Given the description of an element on the screen output the (x, y) to click on. 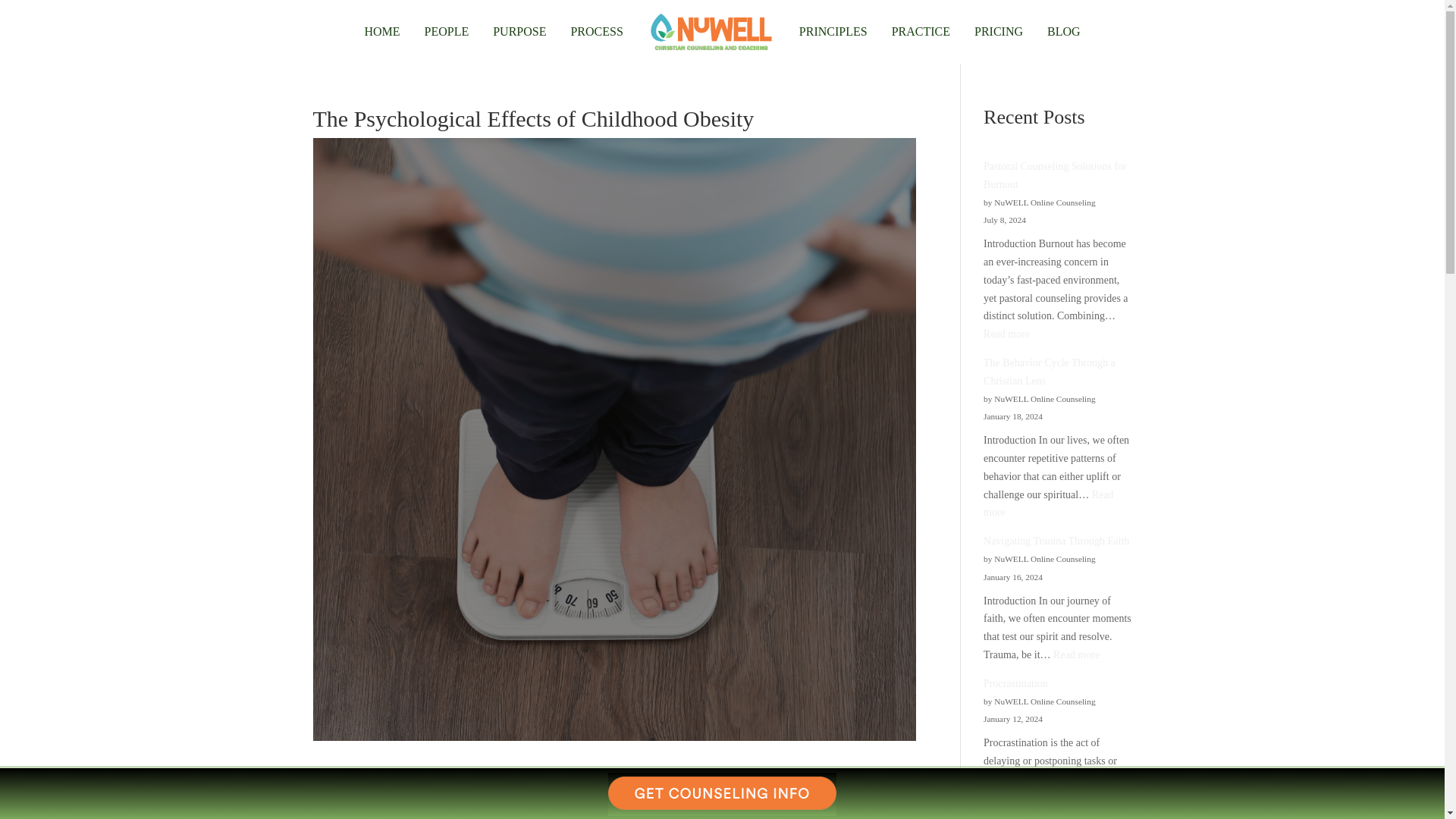
PRACTICE (920, 31)
PROCESS (596, 31)
PURPOSE (519, 31)
PRINCIPLES (832, 31)
PEOPLE (446, 31)
PRICING (998, 31)
HOME (381, 31)
BLOG (1063, 31)
